Given the description of an element on the screen output the (x, y) to click on. 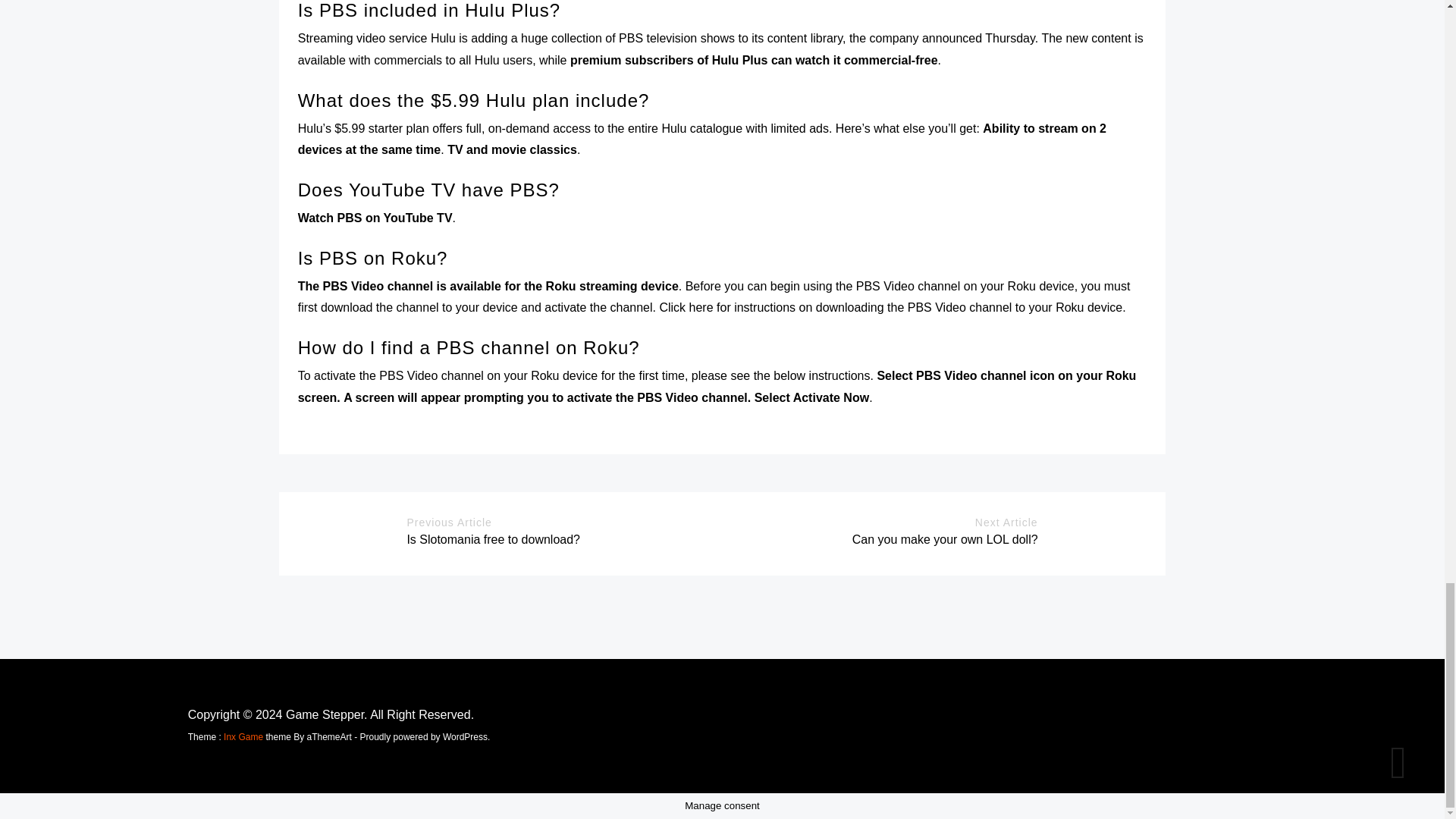
Inx Game (243, 737)
Can you make your own LOL doll? (944, 539)
Is Slotomania free to download? (492, 539)
